Given the description of an element on the screen output the (x, y) to click on. 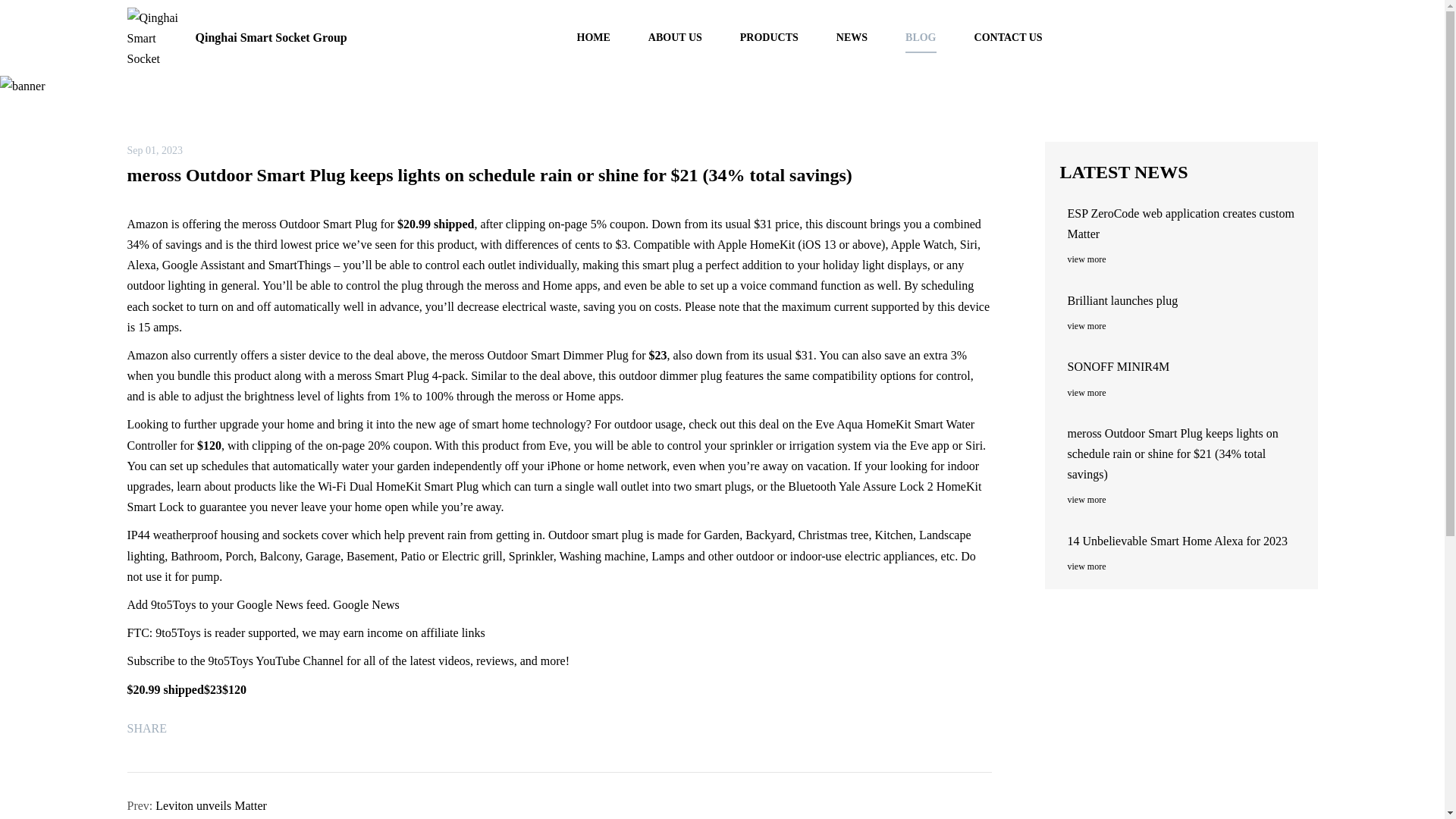
Brilliant launches plug (1185, 300)
view more (1185, 325)
14 Unbelievable Smart Home Alexa for 2023 (1185, 540)
view more (1185, 566)
SONOFF MINIR4M (1185, 366)
view more (1185, 499)
ESP ZeroCode web application creates custom Matter (1185, 223)
Language (1305, 37)
Blog (718, 104)
Qinghai Smart Socket Group (237, 38)
